Given the description of an element on the screen output the (x, y) to click on. 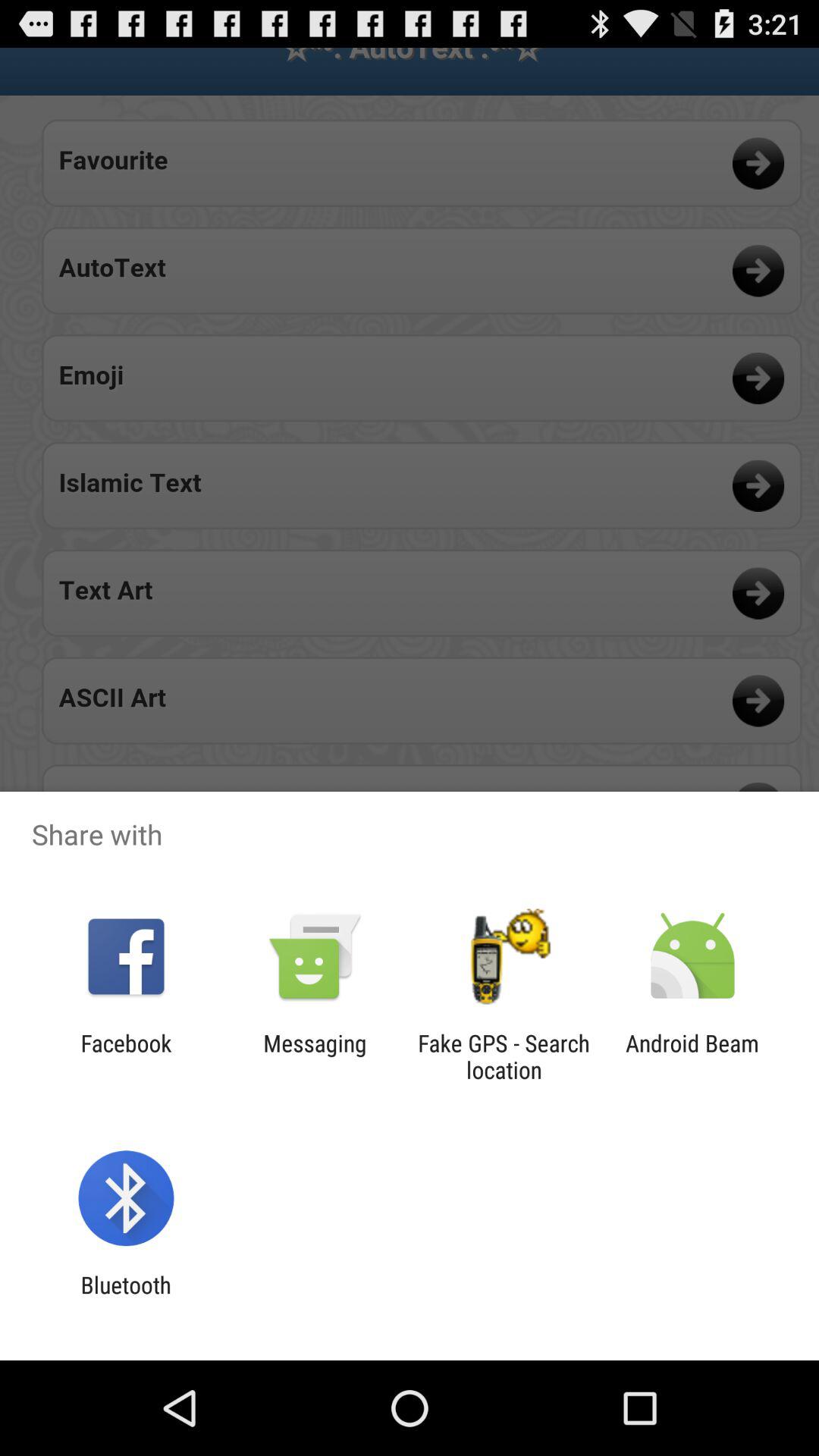
choose the item next to fake gps search (692, 1056)
